Given the description of an element on the screen output the (x, y) to click on. 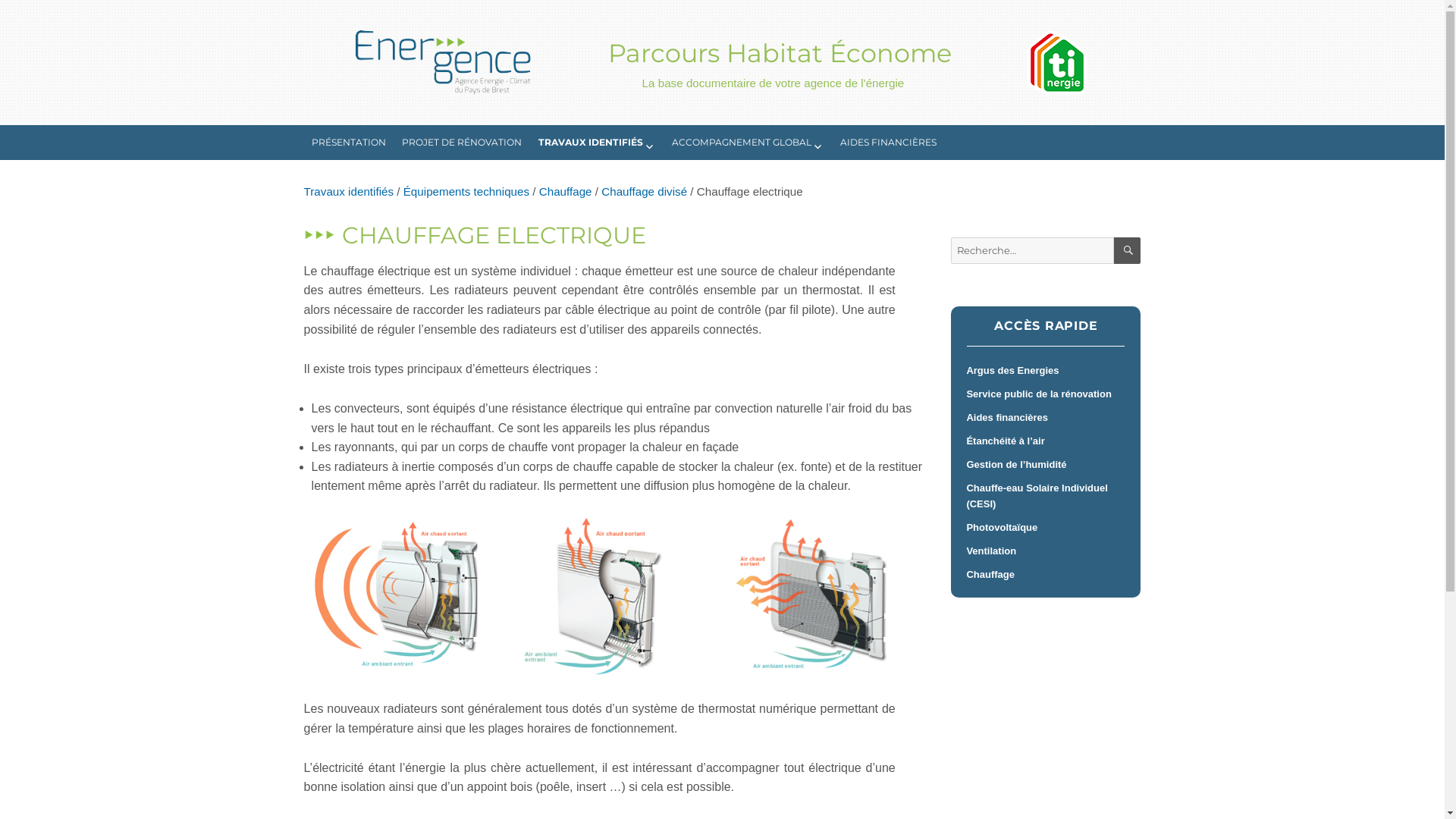
Argus des Energies Element type: text (1045, 370)
Chauffe-eau Solaire Individuel (CESI) Element type: text (1045, 495)
Chauffage Element type: text (565, 191)
RECHERCHE Element type: text (1126, 250)
ACCOMPAGNEMENT GLOBAL Element type: text (747, 142)
Chauffage Element type: text (1045, 574)
Ventilation Element type: text (1045, 550)
